Given the description of an element on the screen output the (x, y) to click on. 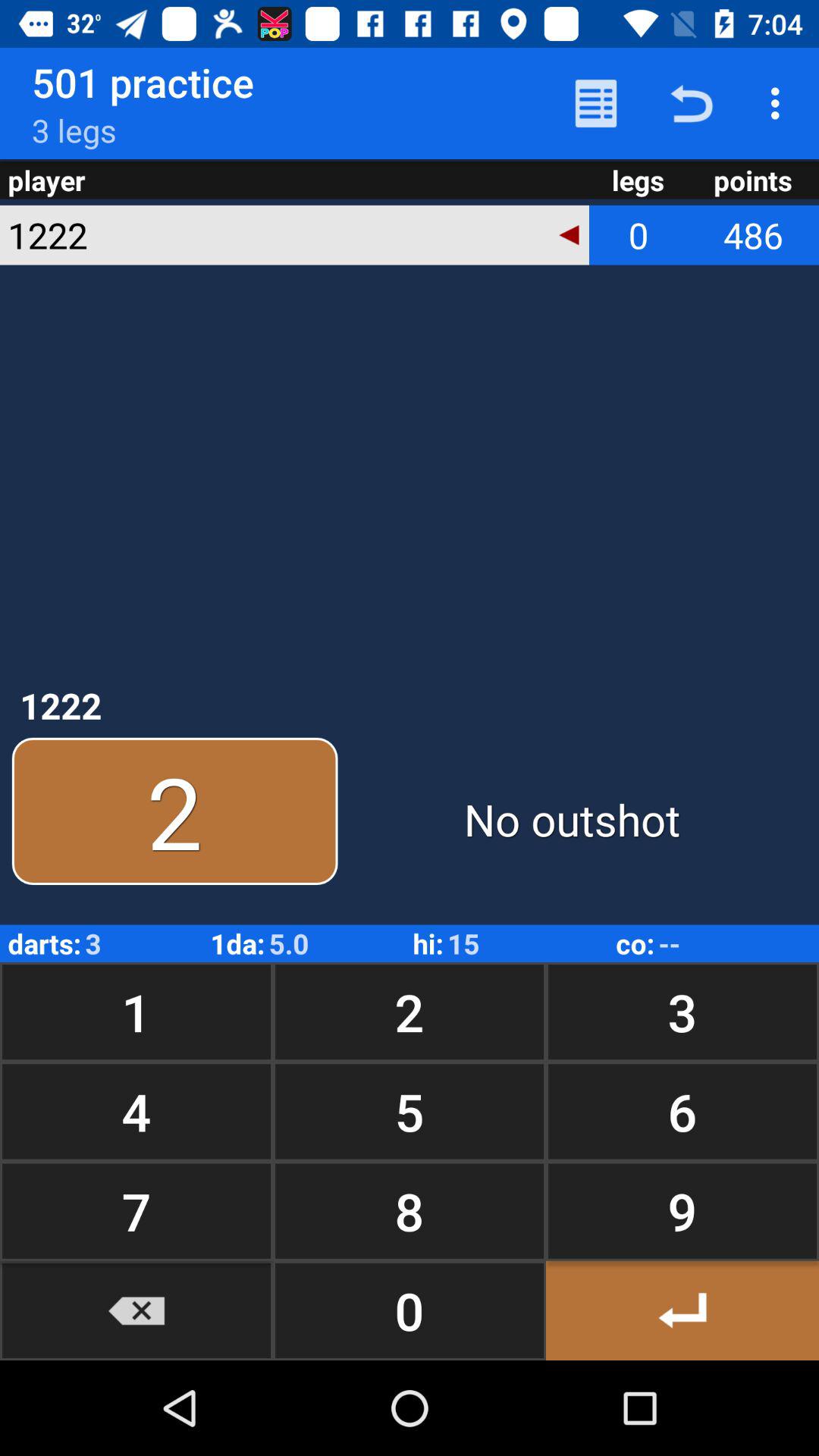
open the button below 5 button (682, 1210)
